Given the description of an element on the screen output the (x, y) to click on. 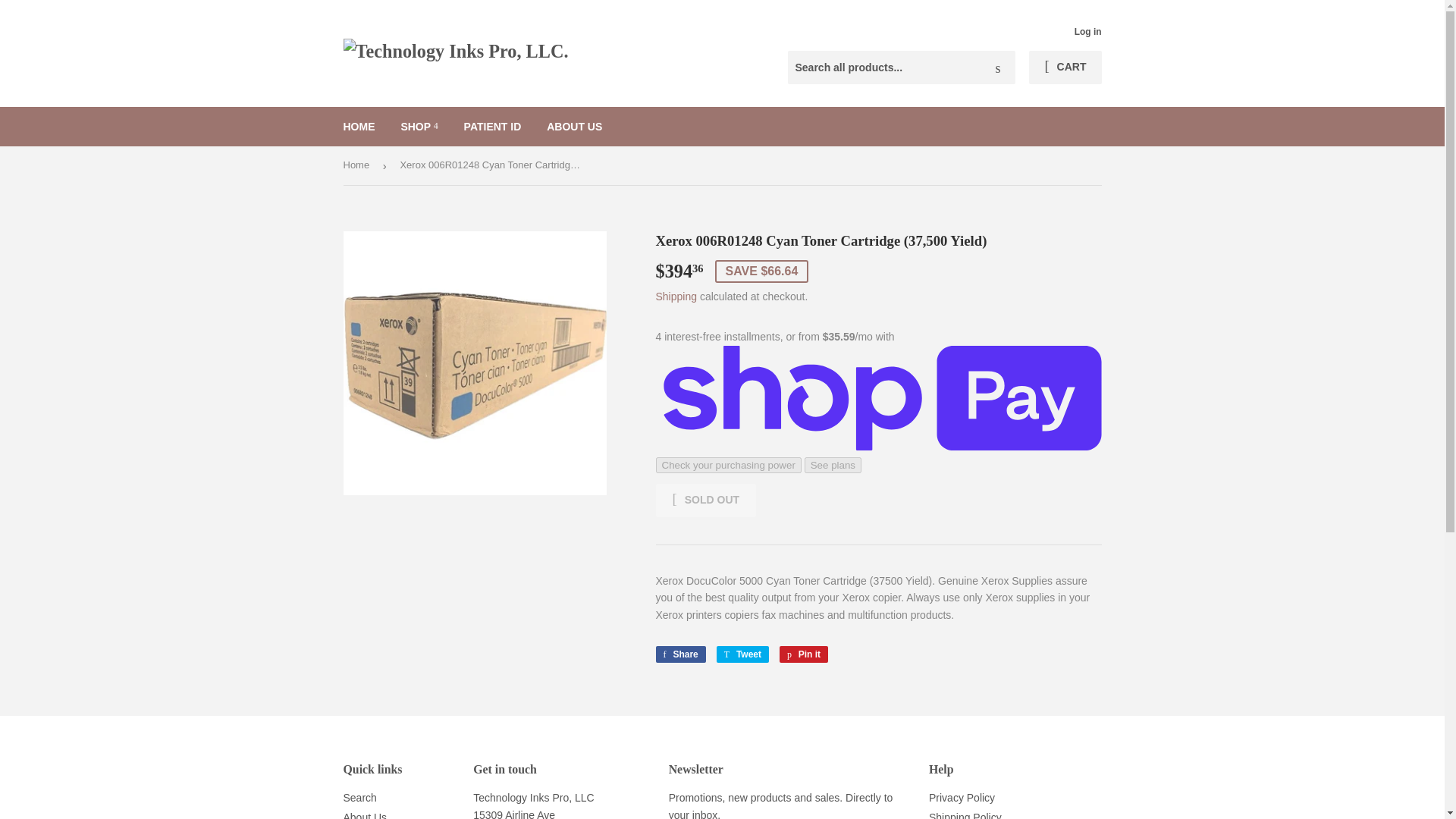
Search (997, 68)
Share on Facebook (679, 654)
Tweet on Twitter (742, 654)
Back to the frontpage (358, 165)
Pin on Pinterest (803, 654)
Log in (1088, 31)
CART (1064, 67)
